Given the description of an element on the screen output the (x, y) to click on. 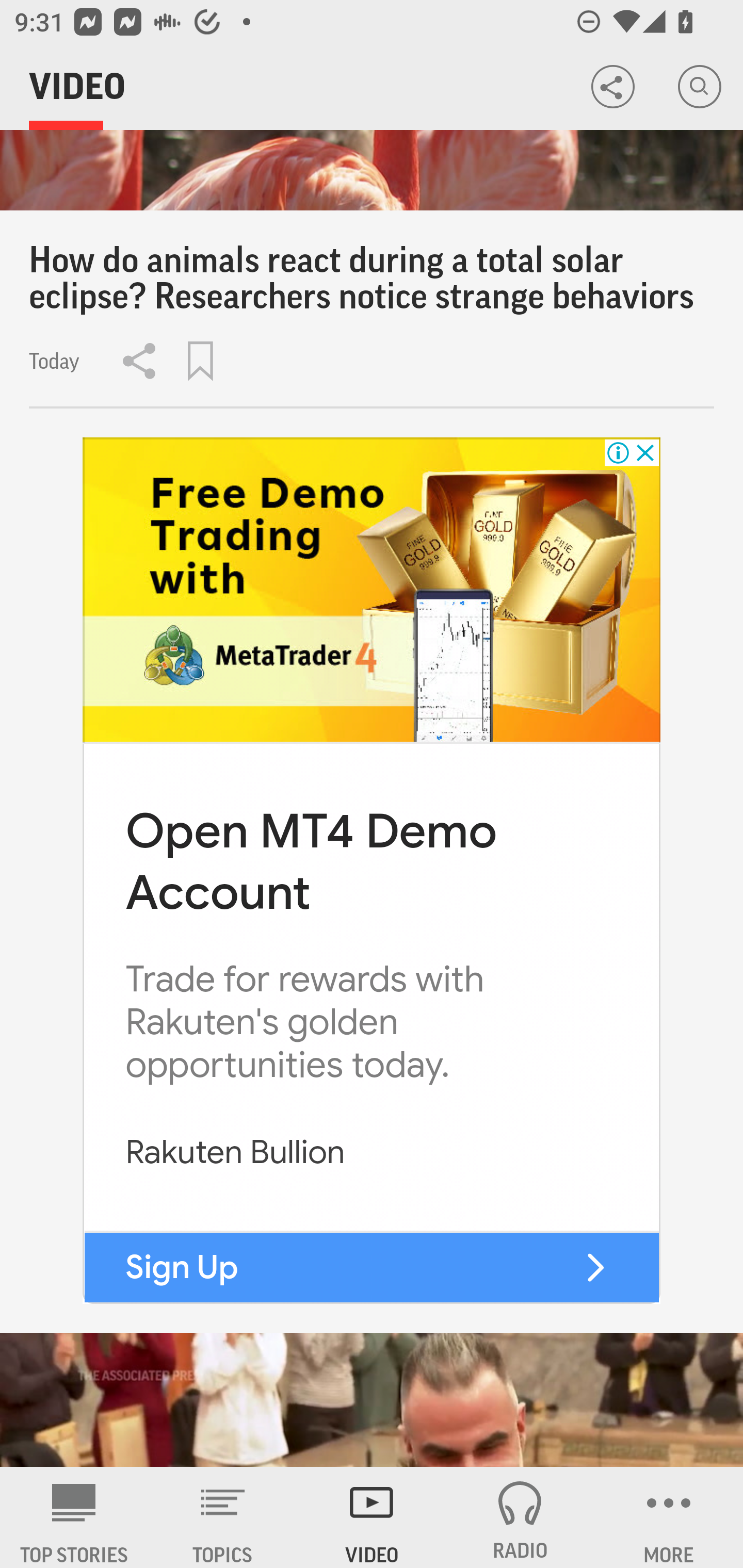
Open MT4 Demo Account Open MT4 Demo Account (310, 860)
Rakuten Bullion (235, 1152)
Sign Up (181, 1266)
AP News TOP STORIES (74, 1517)
TOPICS (222, 1517)
VIDEO (371, 1517)
RADIO (519, 1517)
MORE (668, 1517)
